Given the description of an element on the screen output the (x, y) to click on. 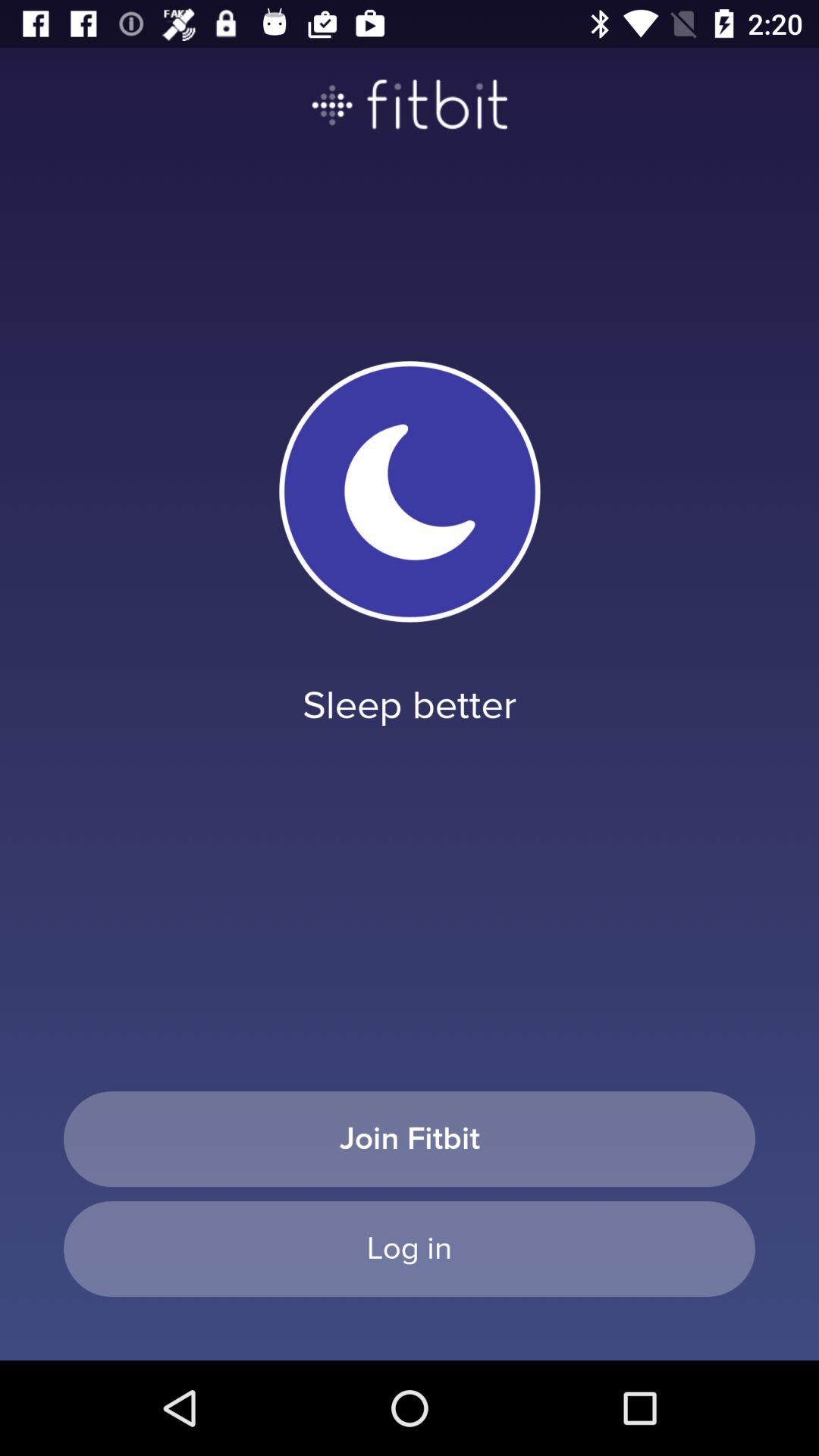
turn on the icon above log in (409, 1138)
